Given the description of an element on the screen output the (x, y) to click on. 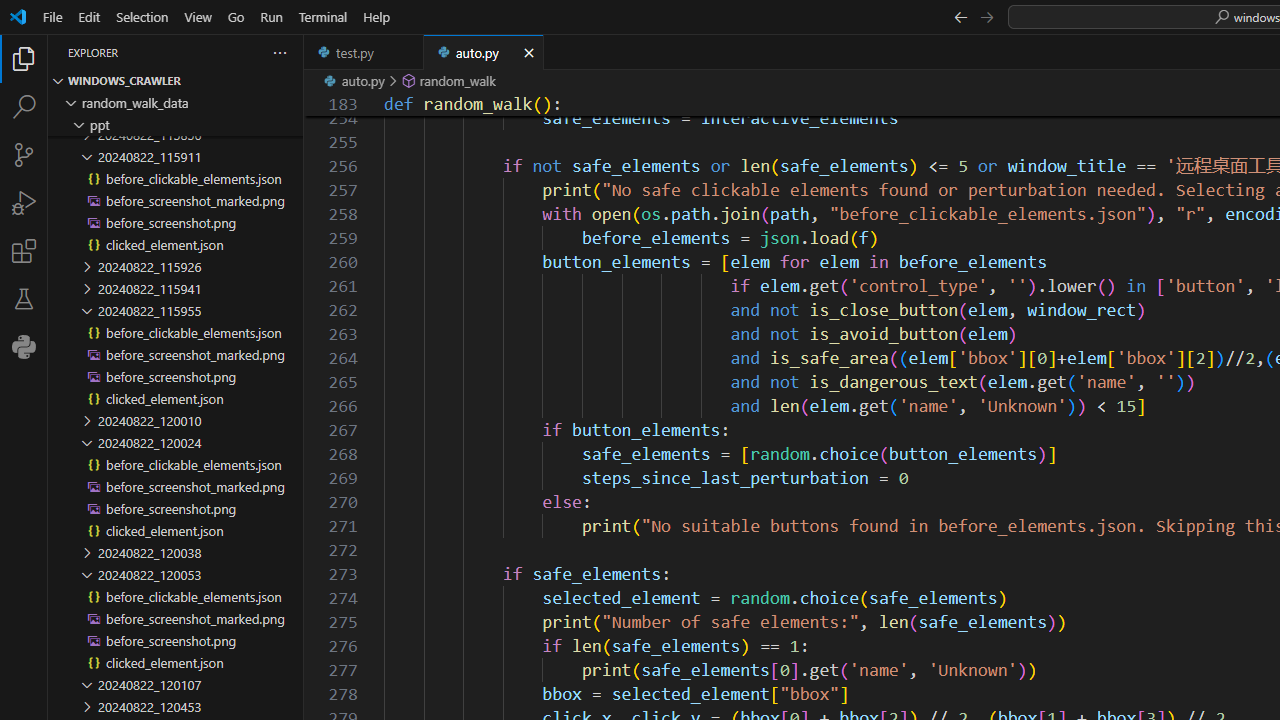
Go Back (Alt+LeftArrow) (960, 16)
Explorer (Ctrl+Shift+E) (24, 58)
Source Control (Ctrl+Shift+G) (24, 155)
Terminal (322, 16)
Run (271, 16)
test.py (363, 52)
Go Forward (Alt+RightArrow) (986, 16)
File (52, 16)
Views and More Actions... (279, 52)
